Given the description of an element on the screen output the (x, y) to click on. 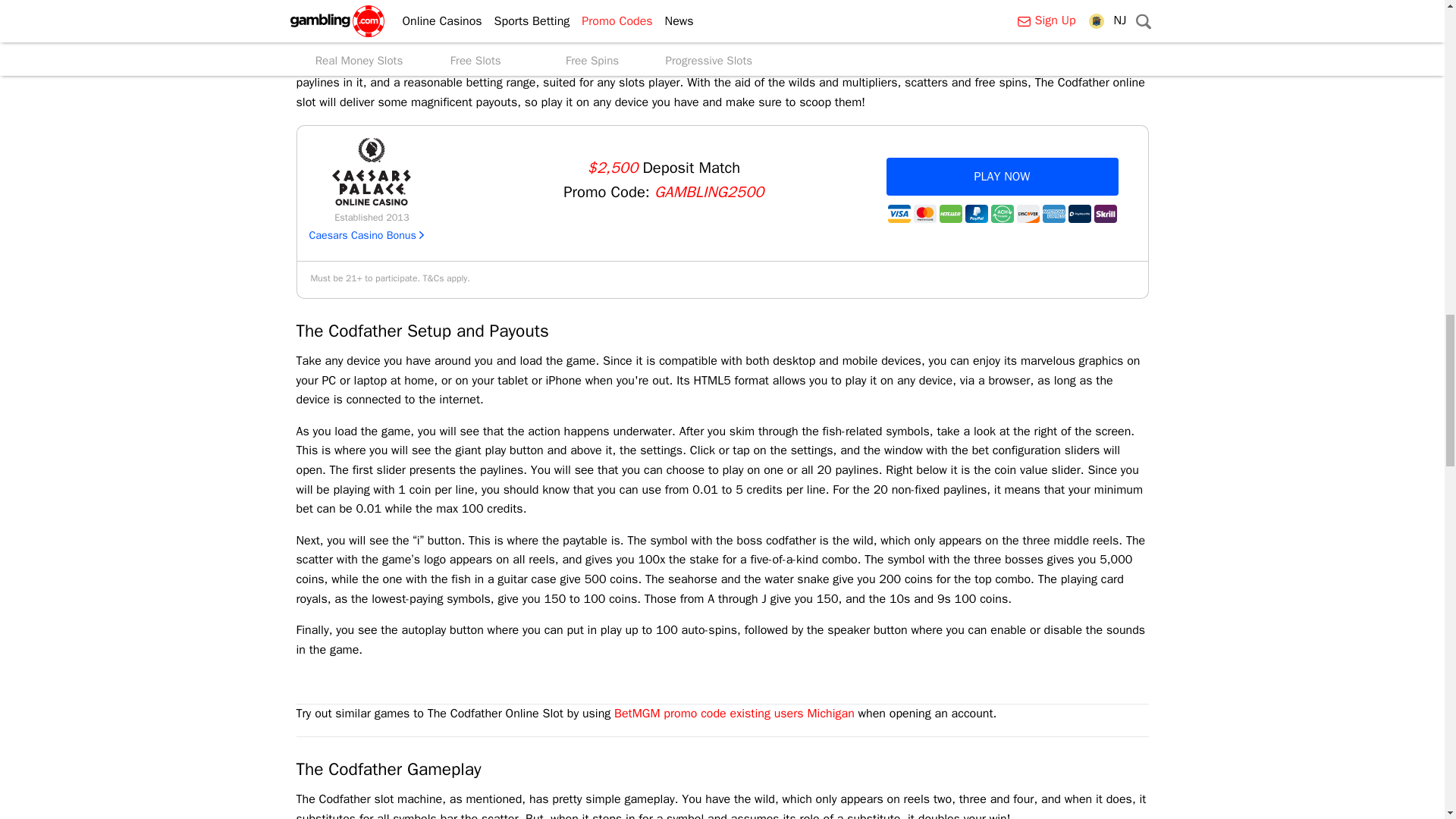
PayPal (975, 213)
NETELLER (949, 213)
VISA (898, 213)
Discover (1027, 213)
ACH Transfer (1001, 213)
Caesars Casino (371, 171)
MasterCard (924, 213)
American Express (1053, 213)
